Given the description of an element on the screen output the (x, y) to click on. 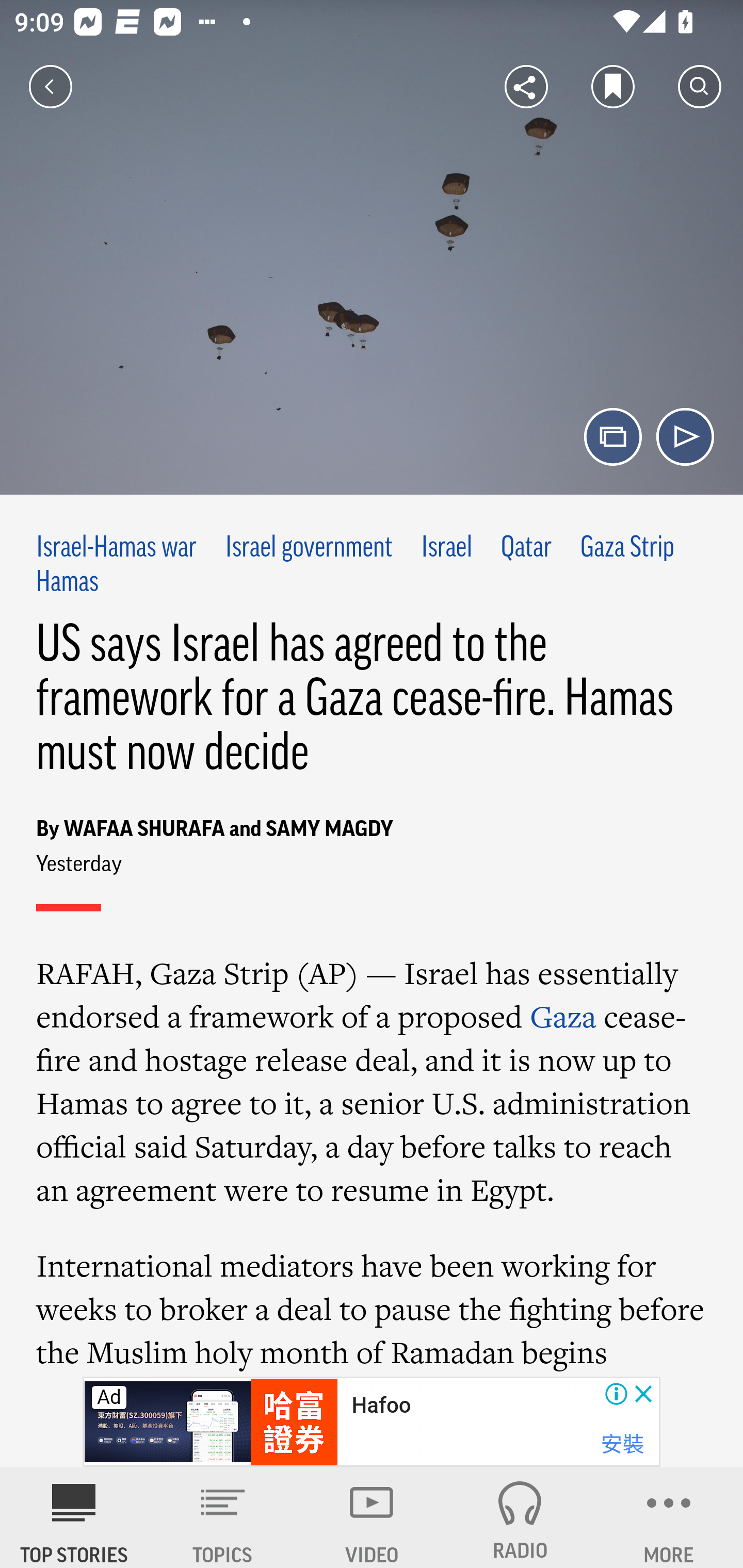
Israel-Hamas war (117, 548)
Israel government (308, 548)
Israel (446, 548)
Qatar (526, 548)
Gaza Strip (627, 548)
Hamas (67, 582)
Gaza (563, 1016)
Hafoo (381, 1405)
安裝 (621, 1444)
AP News TOP STORIES (74, 1517)
TOPICS (222, 1517)
VIDEO (371, 1517)
RADIO (519, 1517)
MORE (668, 1517)
